Given the description of an element on the screen output the (x, y) to click on. 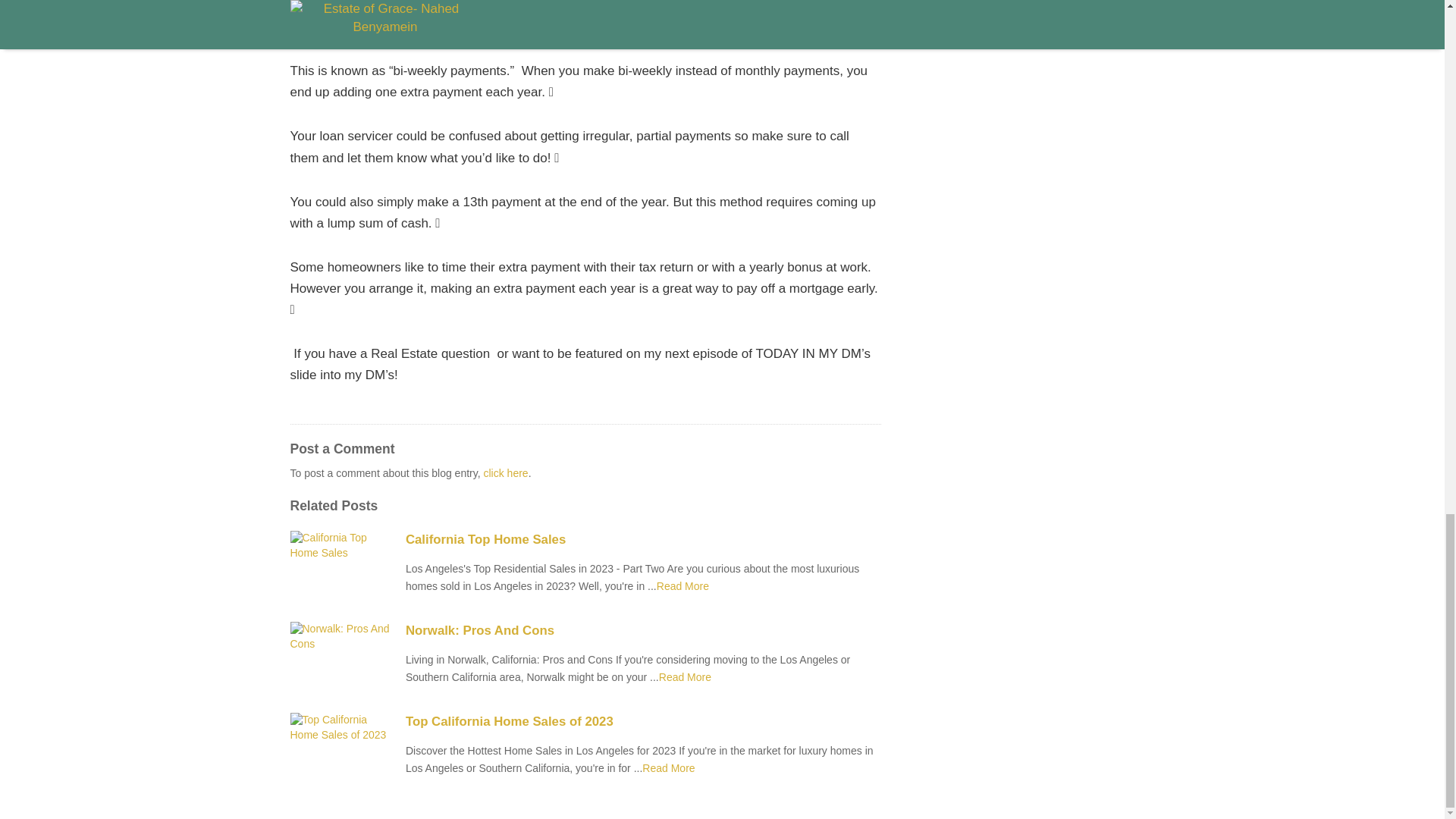
California Top Home Sales  (643, 539)
How Can i Pay Off My Mortgage Faster (682, 585)
How Can i Pay Off My Mortgage Faster (668, 767)
Top California  Home Sales of 2023  (643, 721)
How Can i Pay Off My Mortgage Faster (685, 676)
Norwalk: Pros And Cons (643, 630)
